Given the description of an element on the screen output the (x, y) to click on. 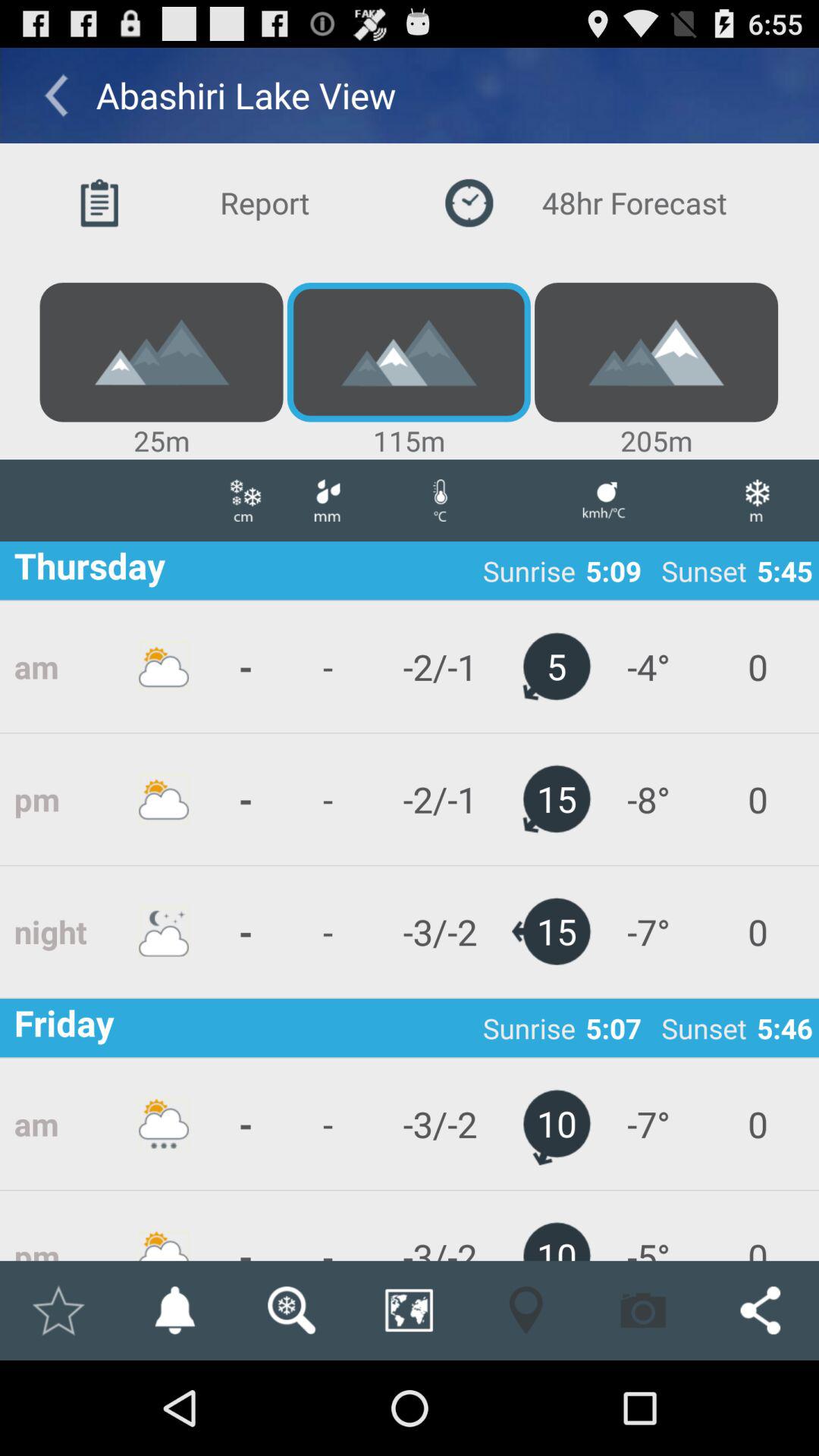
favorite location (58, 1310)
